Given the description of an element on the screen output the (x, y) to click on. 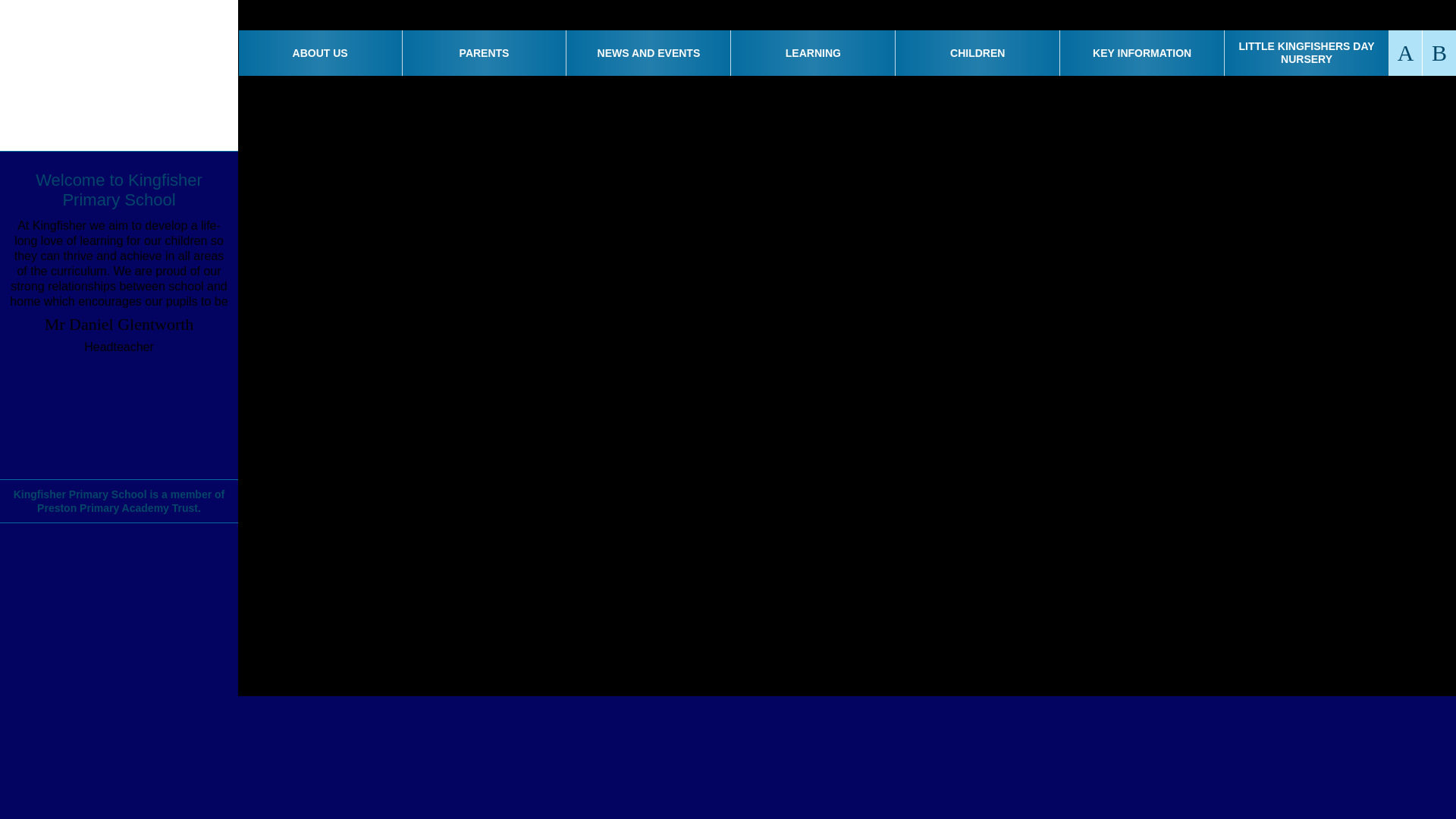
Home Page (119, 75)
LEARNING (812, 53)
ABOUT US (320, 53)
NEWS AND EVENTS (648, 53)
PARENTS (485, 53)
Home Page (119, 75)
